Given the description of an element on the screen output the (x, y) to click on. 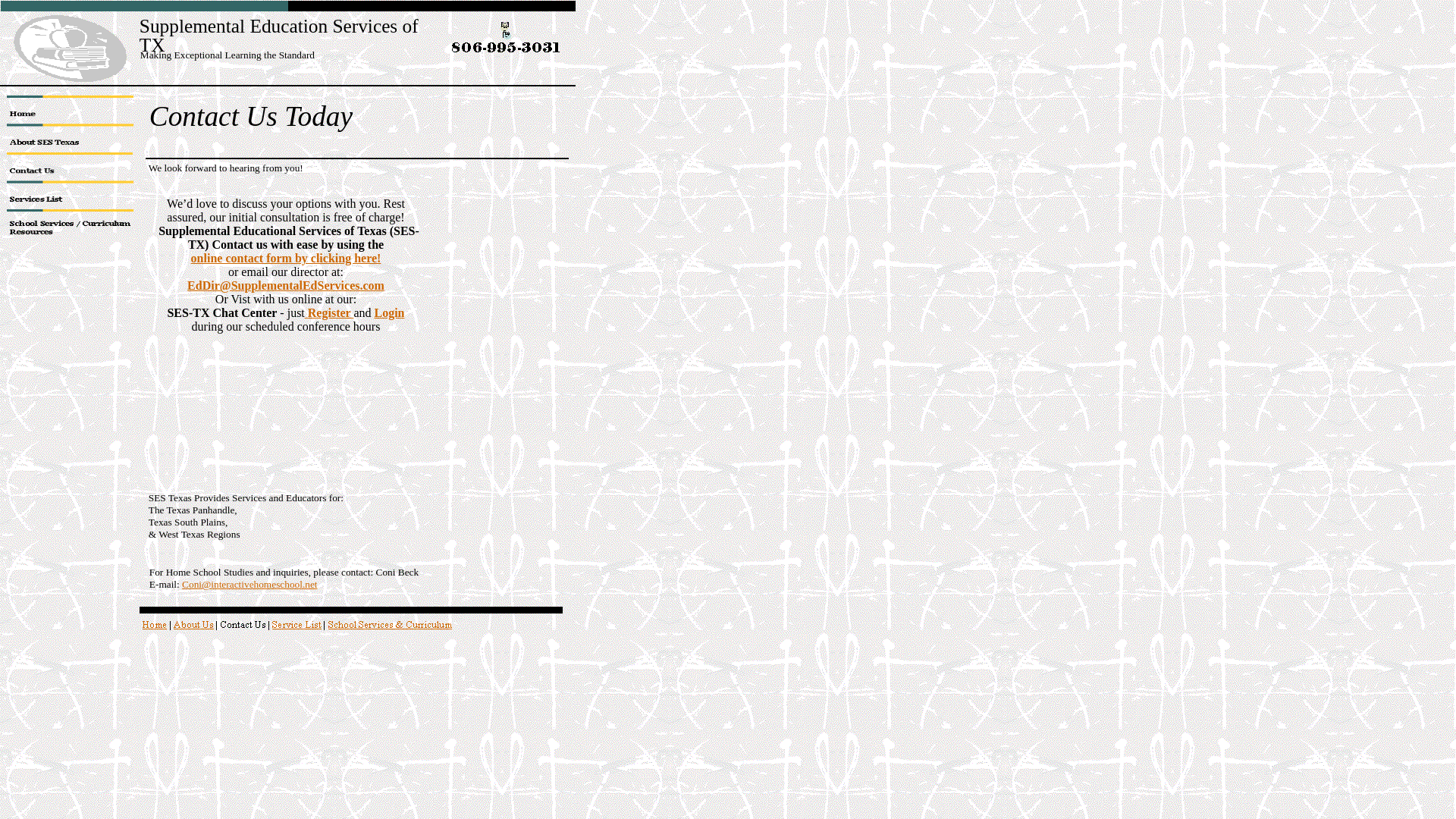
online contact form by clicking here! (285, 257)
Register (328, 312)
Login (389, 312)
